Given the description of an element on the screen output the (x, y) to click on. 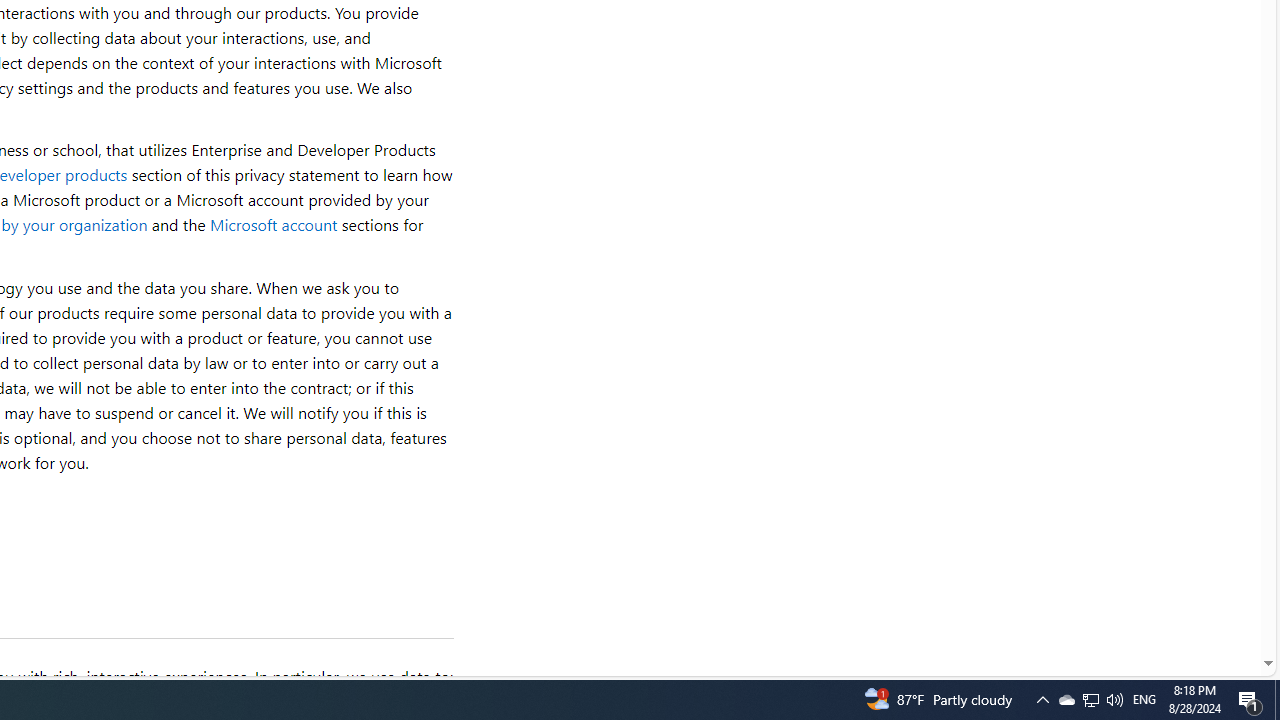
Microsoft account (273, 224)
